Given the description of an element on the screen output the (x, y) to click on. 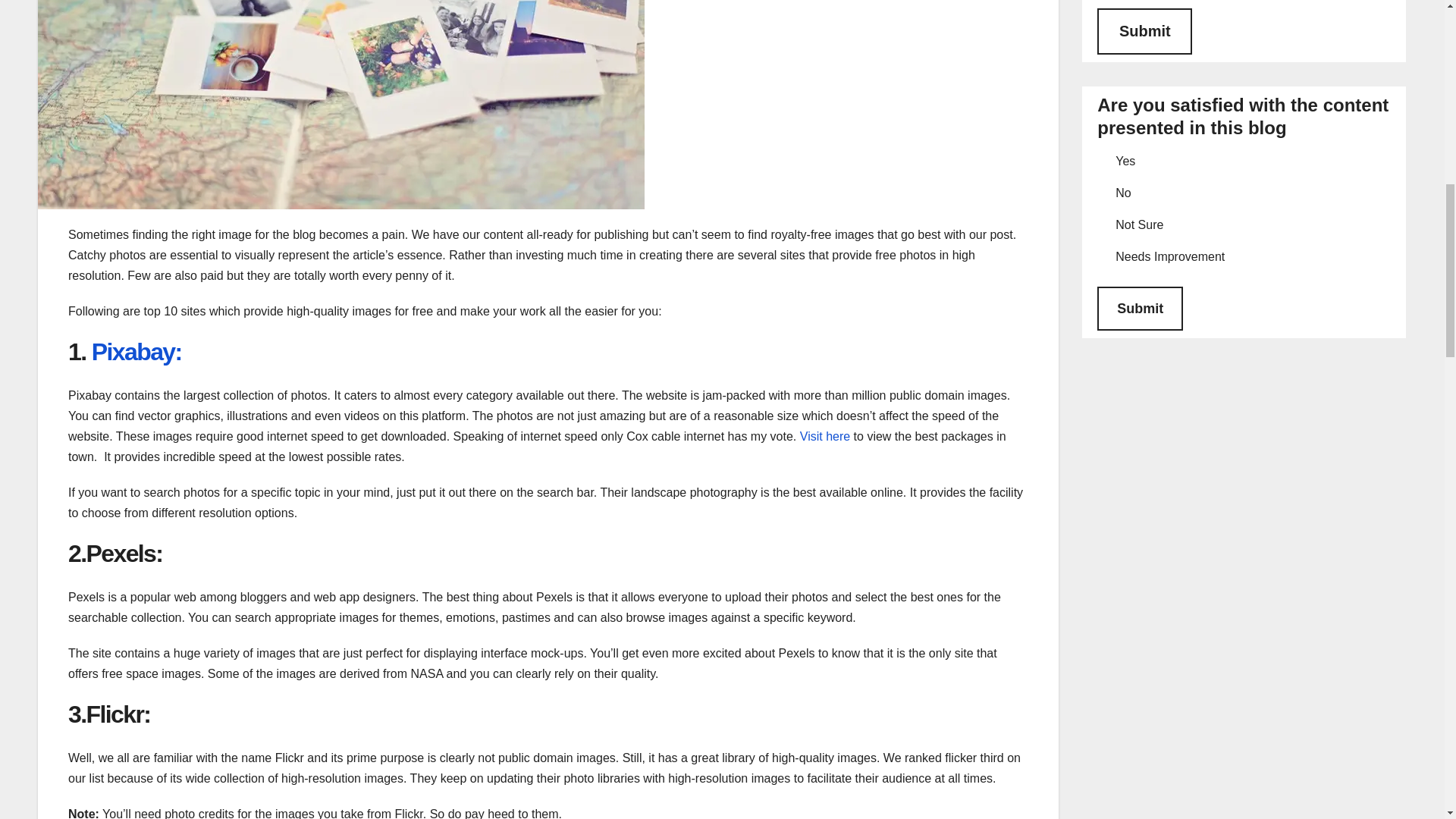
Yes (1103, 159)
Needs Improvement (1103, 254)
Not Sure (1103, 223)
No (1103, 191)
Visit here (824, 436)
Pixabay: (136, 351)
